Given the description of an element on the screen output the (x, y) to click on. 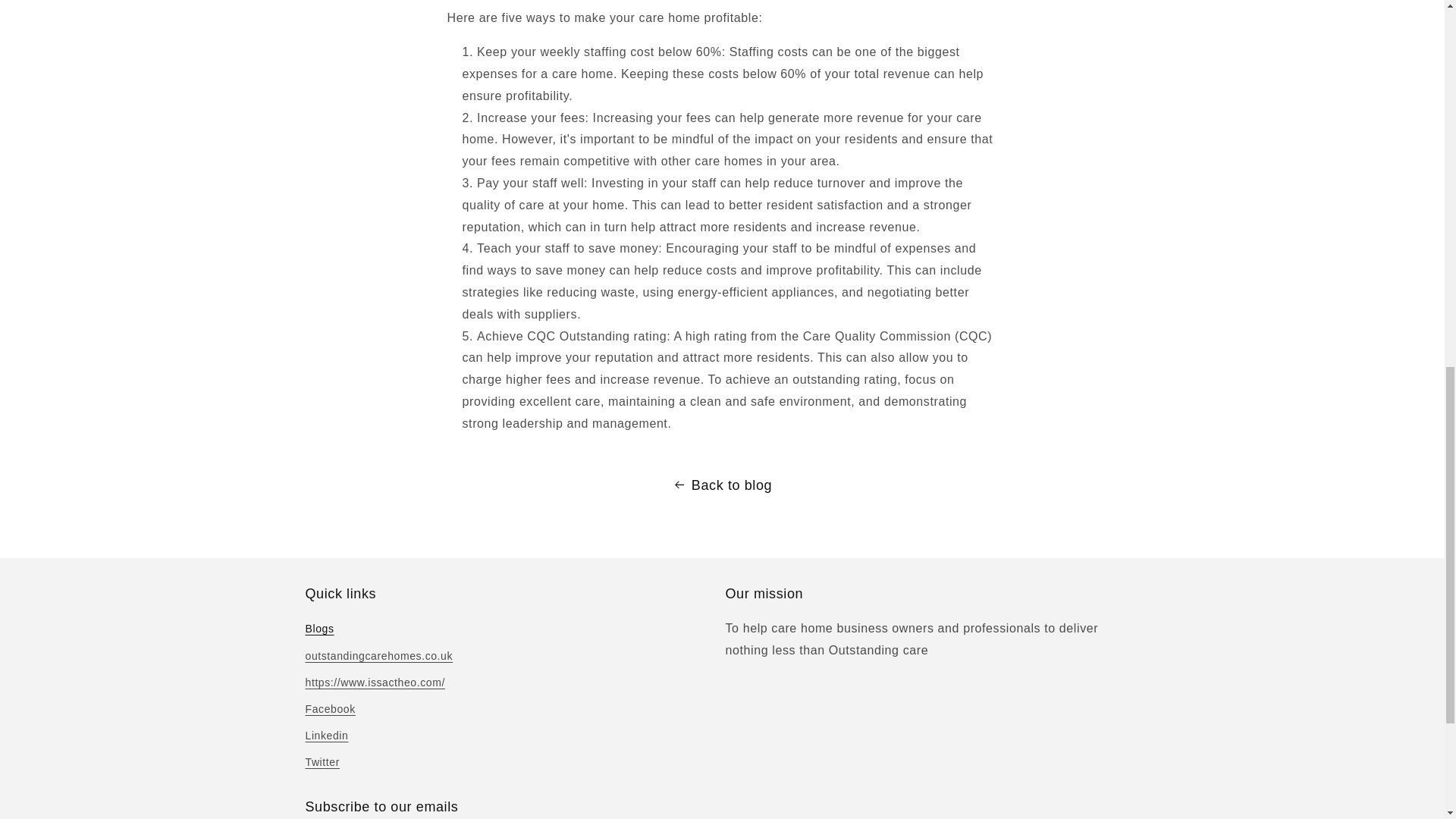
Linkedin (325, 735)
Blogs (318, 630)
Facebook (329, 709)
Twitter (321, 762)
outstandingcarehomes.co.uk (378, 655)
